Given the description of an element on the screen output the (x, y) to click on. 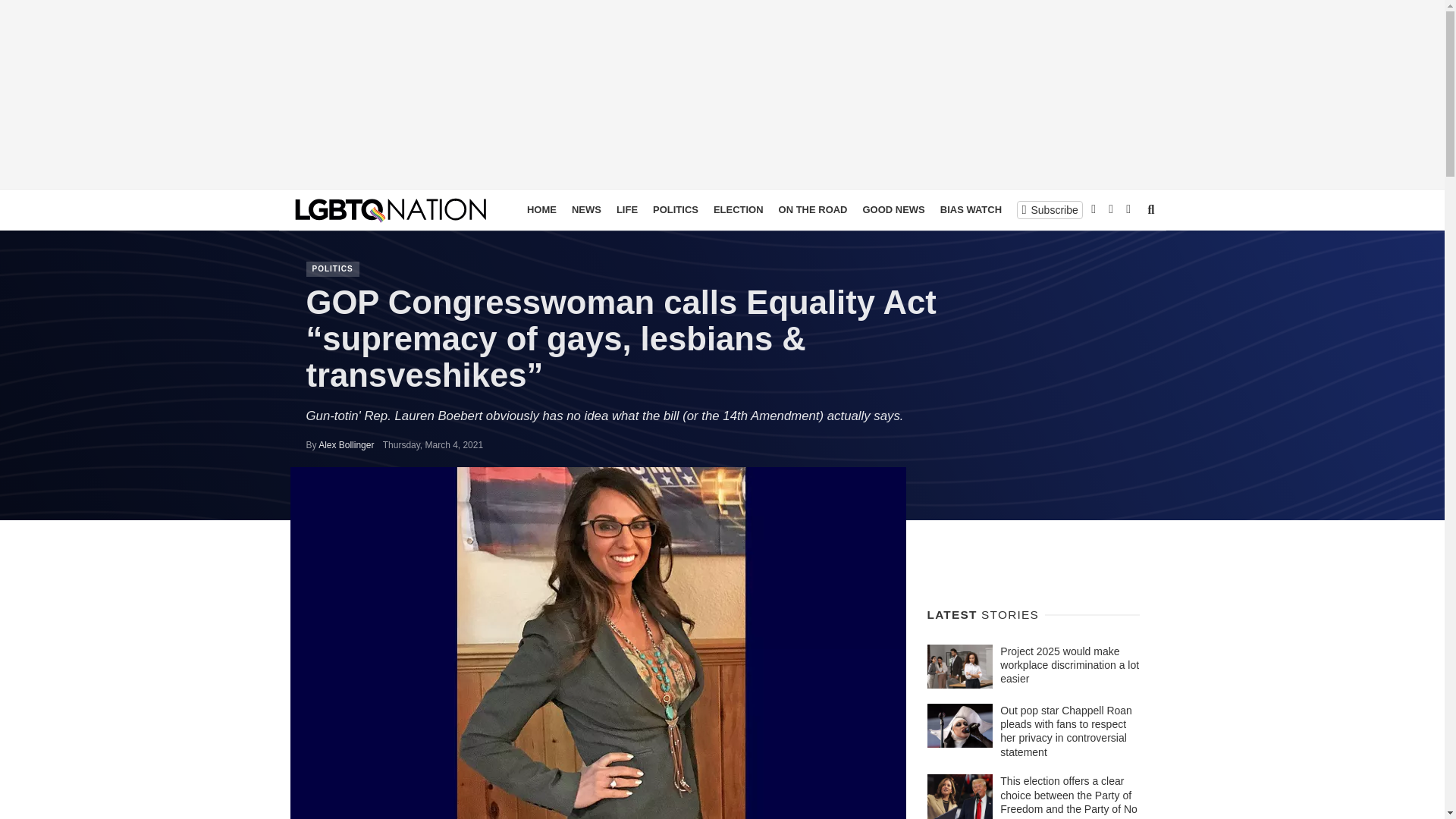
Thursday, March 4, 2021 am31 09:00:48 (432, 444)
LIFE (626, 209)
NEWS (586, 209)
HOME (541, 209)
COMMENTARY (1051, 209)
ELECTION (738, 209)
Posts by Alex Bollinger (346, 444)
ON THE ROAD (813, 209)
GOOD NEWS (894, 209)
